Given the description of an element on the screen output the (x, y) to click on. 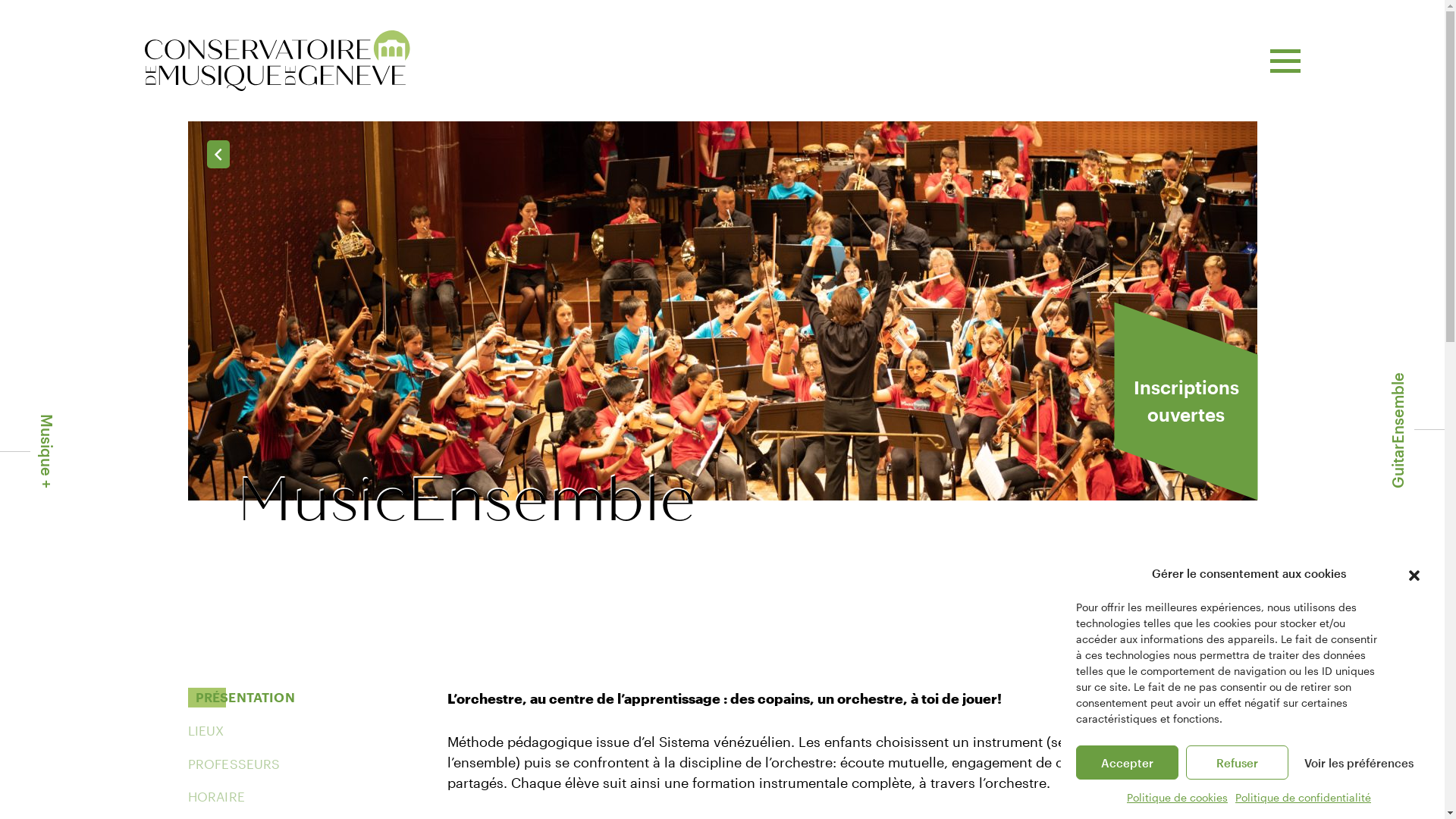
Refuser Element type: text (1237, 762)
Politique de cookies Element type: text (1176, 797)
Inscriptions
ouvertes Element type: text (1186, 400)
LIEUX Element type: text (206, 730)
HORAIRE Element type: text (216, 796)
PROFESSEURS Element type: text (234, 764)
Musique + Element type: text (37, 453)
Accepter Element type: text (1127, 762)
